Given the description of an element on the screen output the (x, y) to click on. 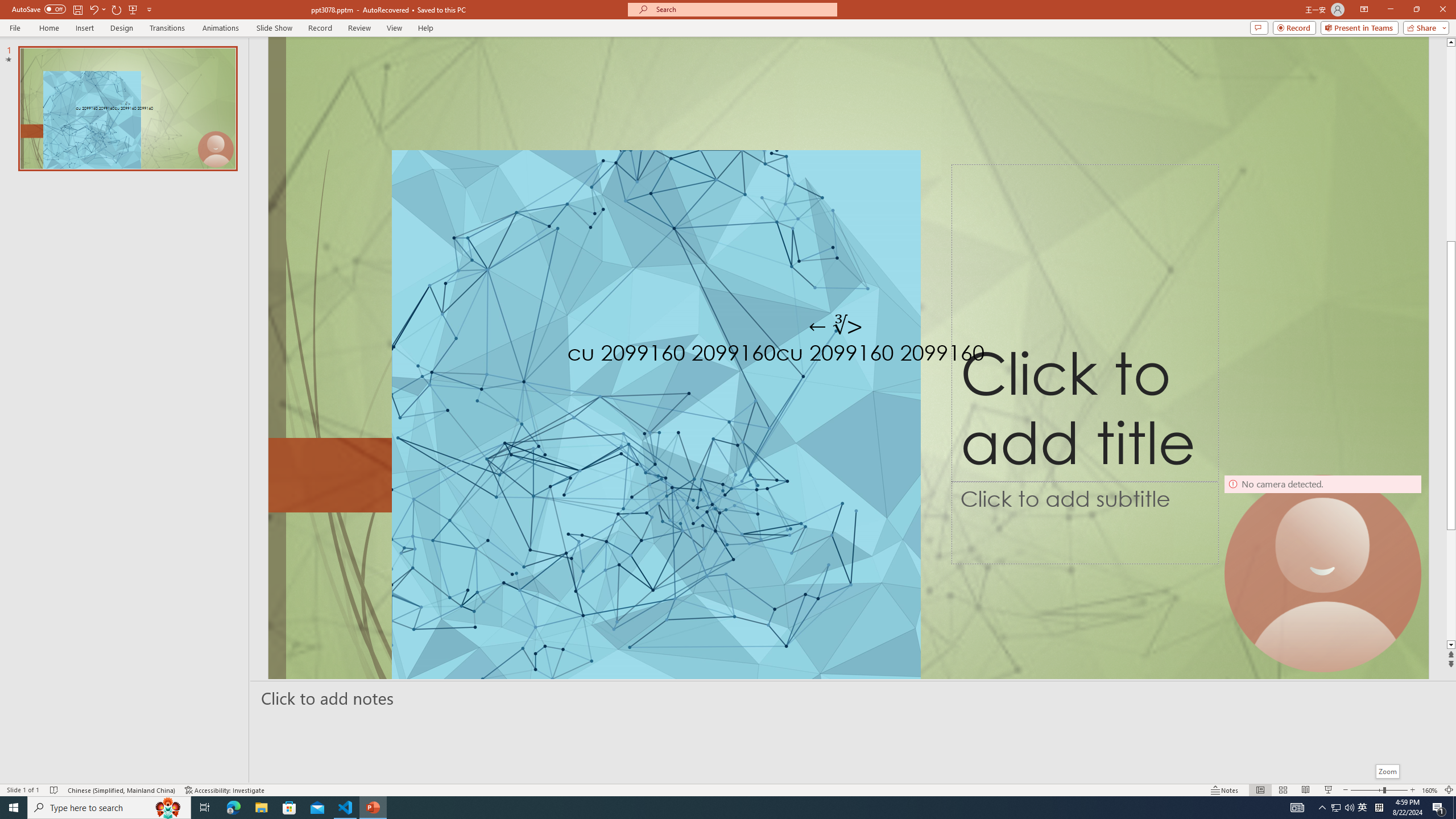
Zoom 160% (1430, 790)
